Given the description of an element on the screen output the (x, y) to click on. 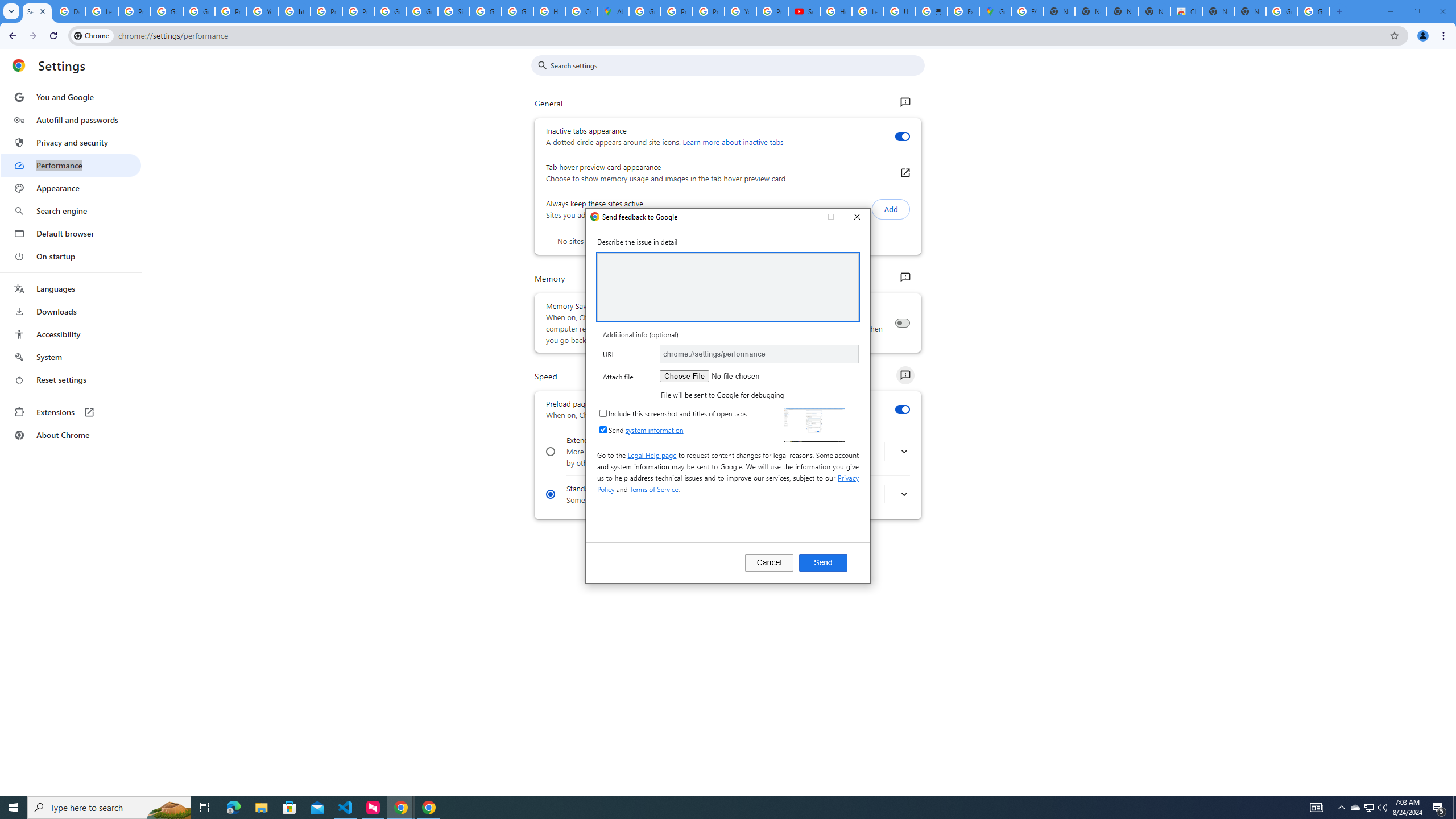
 More info about turning on standard preloading (903, 494)
YouTube (262, 11)
Default browser (70, 233)
Start (13, 807)
Google Chrome - 3 running windows (400, 807)
Memory Saver (901, 323)
Privacy Help Center - Policies Help (708, 11)
Speed (904, 375)
Describe the issue in detail (727, 287)
Memory (904, 277)
